Given the description of an element on the screen output the (x, y) to click on. 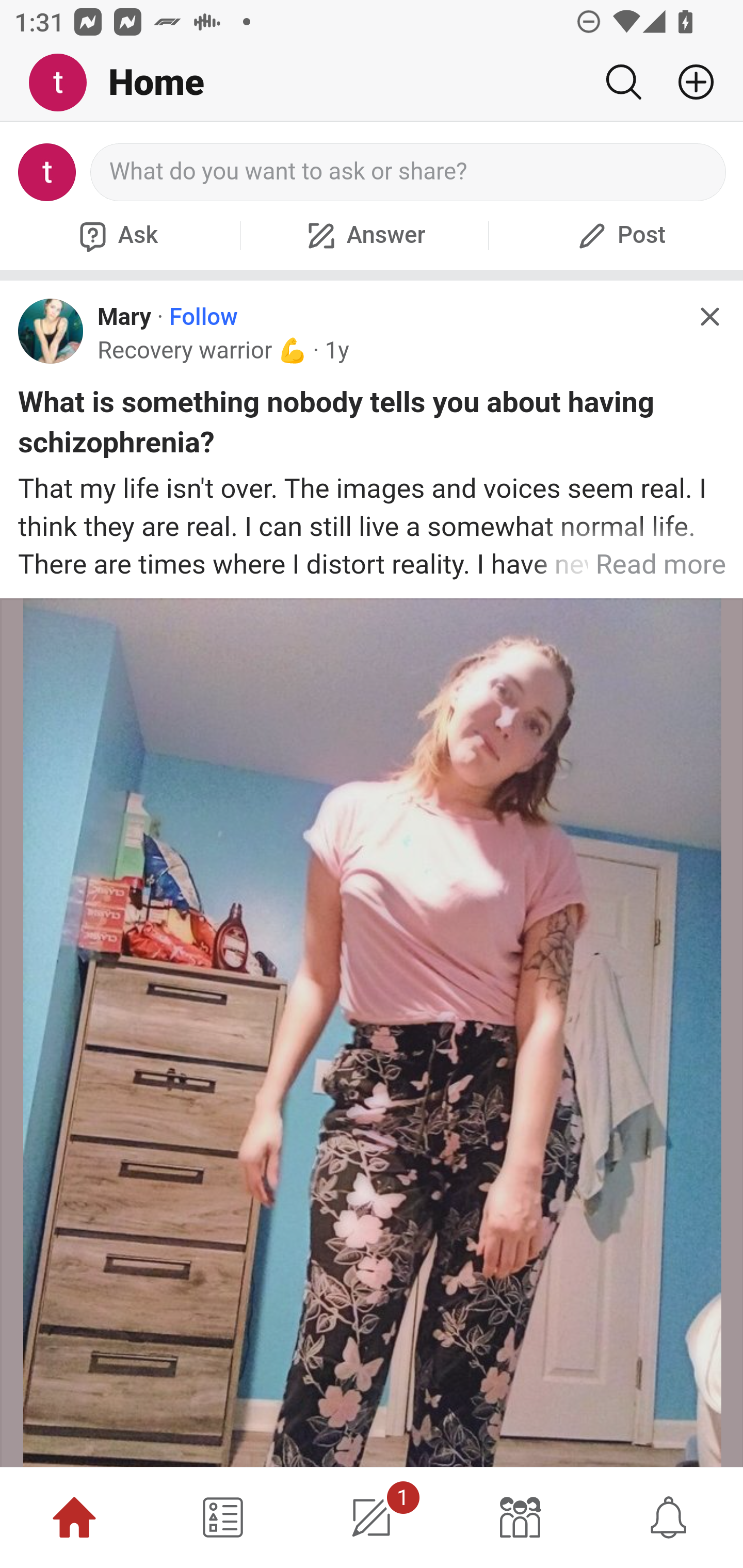
Me (64, 83)
Search (623, 82)
Add (688, 82)
What do you want to ask or share? (408, 172)
Ask (116, 234)
Answer (364, 234)
Post (618, 234)
Hide (709, 316)
Profile photo for Mary (50, 330)
Mary (124, 316)
Follow (202, 316)
1y 1 y (336, 350)
1 (371, 1517)
